Given the description of an element on the screen output the (x, y) to click on. 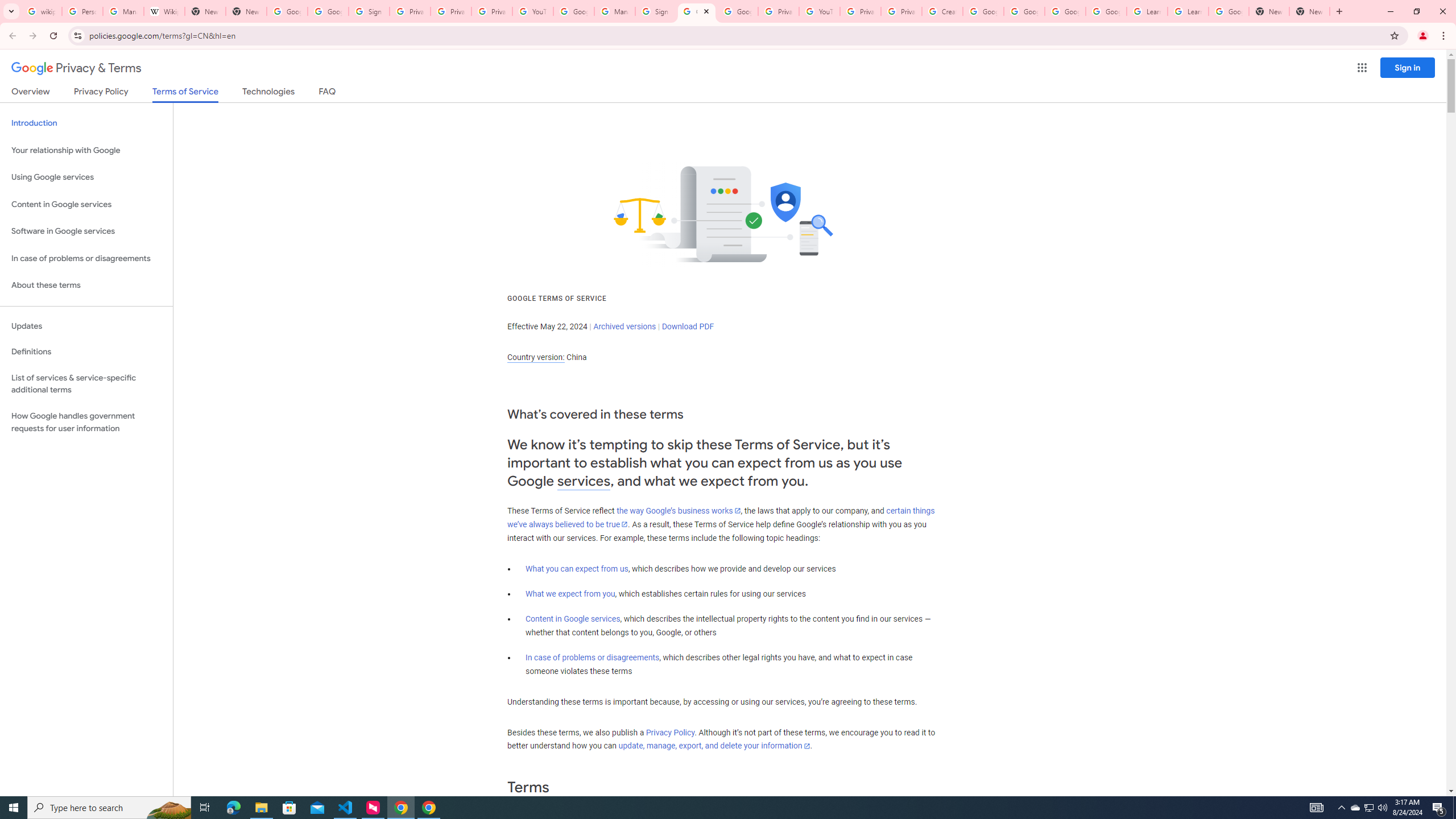
Technologies (268, 93)
services (583, 480)
Google Account Help (573, 11)
Google Account Help (1064, 11)
New Tab (246, 11)
Manage your Location History - Google Search Help (122, 11)
Google Account Help (1023, 11)
Google Drive: Sign-in (327, 11)
Archived versions (624, 326)
Using Google services (86, 176)
